Given the description of an element on the screen output the (x, y) to click on. 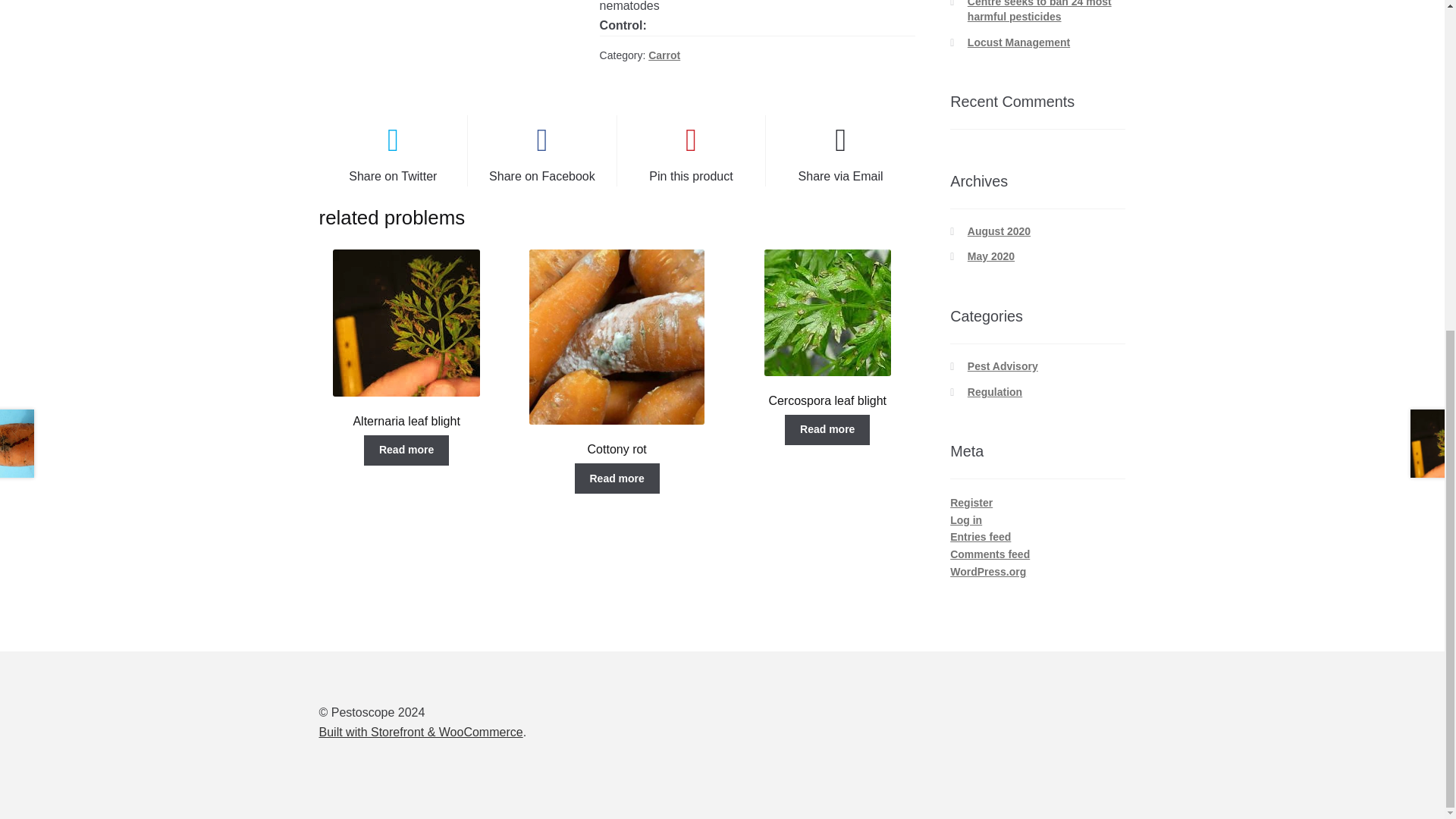
WooCommerce - The Best eCommerce Platform for WordPress (420, 731)
